Given the description of an element on the screen output the (x, y) to click on. 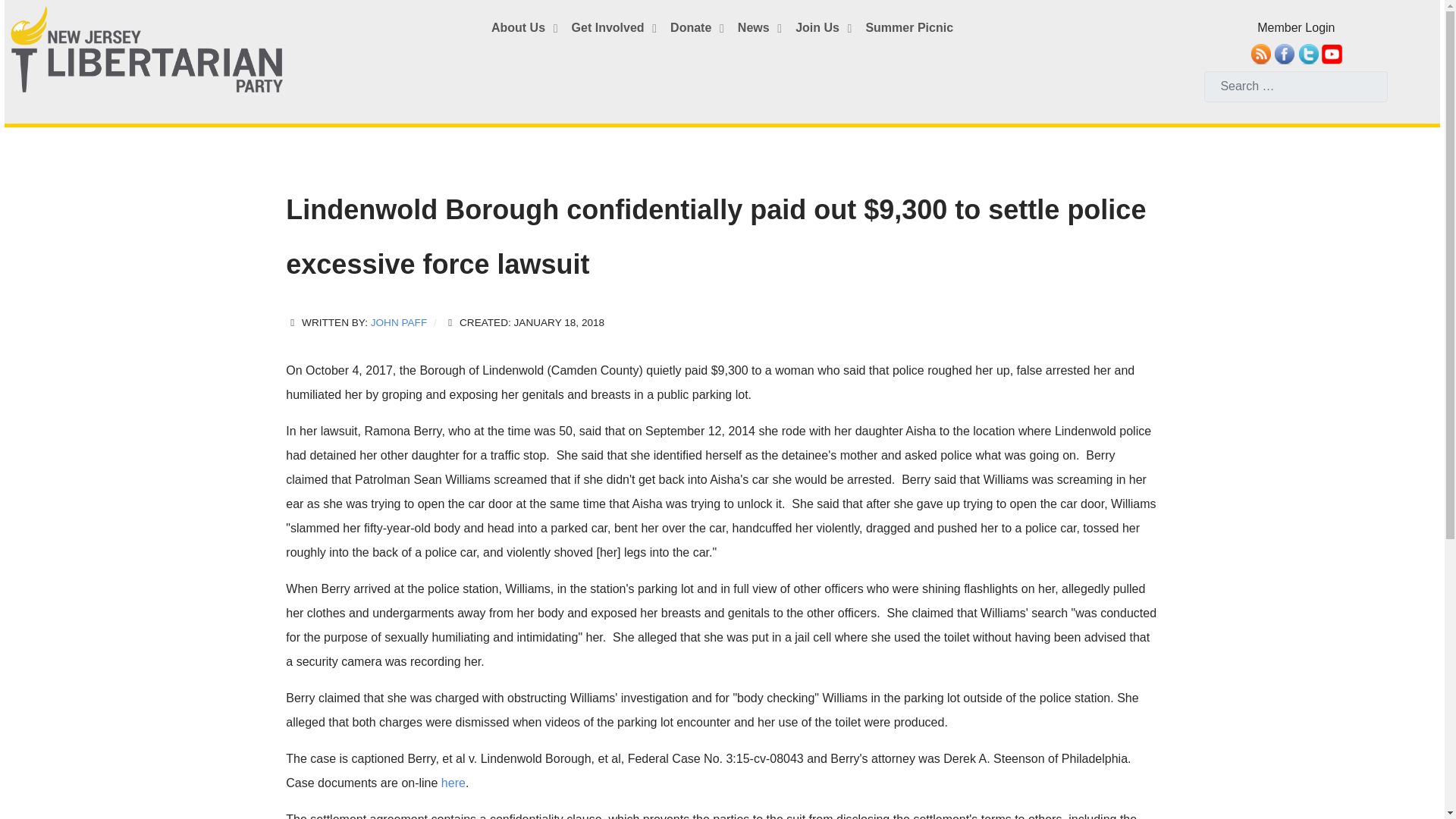
News (761, 29)
NJLP Facebook (1284, 52)
NJLP Twitter (1308, 52)
Join Us (824, 29)
Get Involved (615, 29)
NJLP YouTube (1332, 52)
Donate (697, 29)
About Us (526, 29)
